Given the description of an element on the screen output the (x, y) to click on. 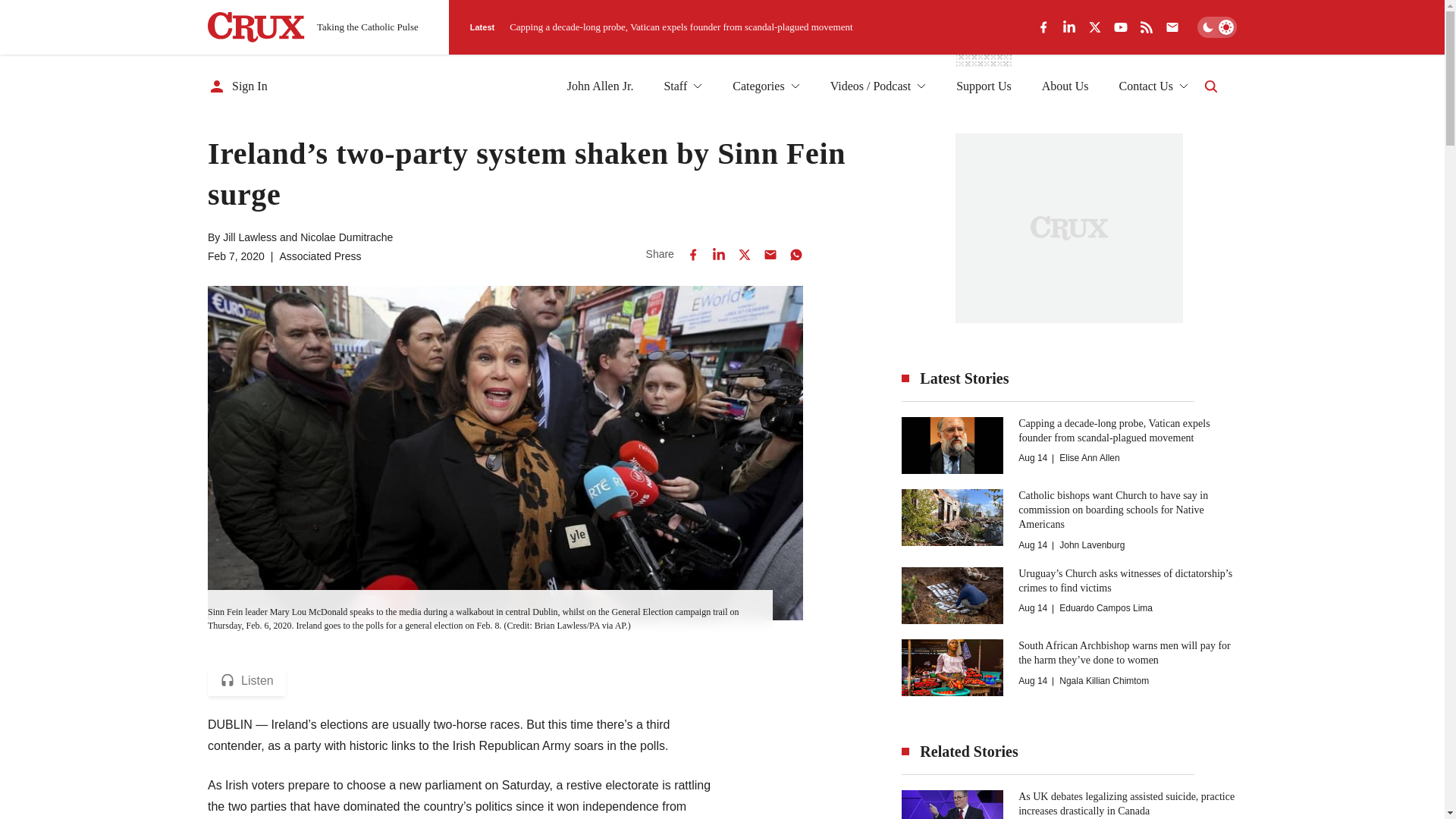
Staff (682, 85)
Contact Us (1153, 85)
Support Us (983, 85)
About Us (1065, 85)
Sign In (237, 85)
John Allen Jr. (600, 85)
Categories (765, 85)
